Given the description of an element on the screen output the (x, y) to click on. 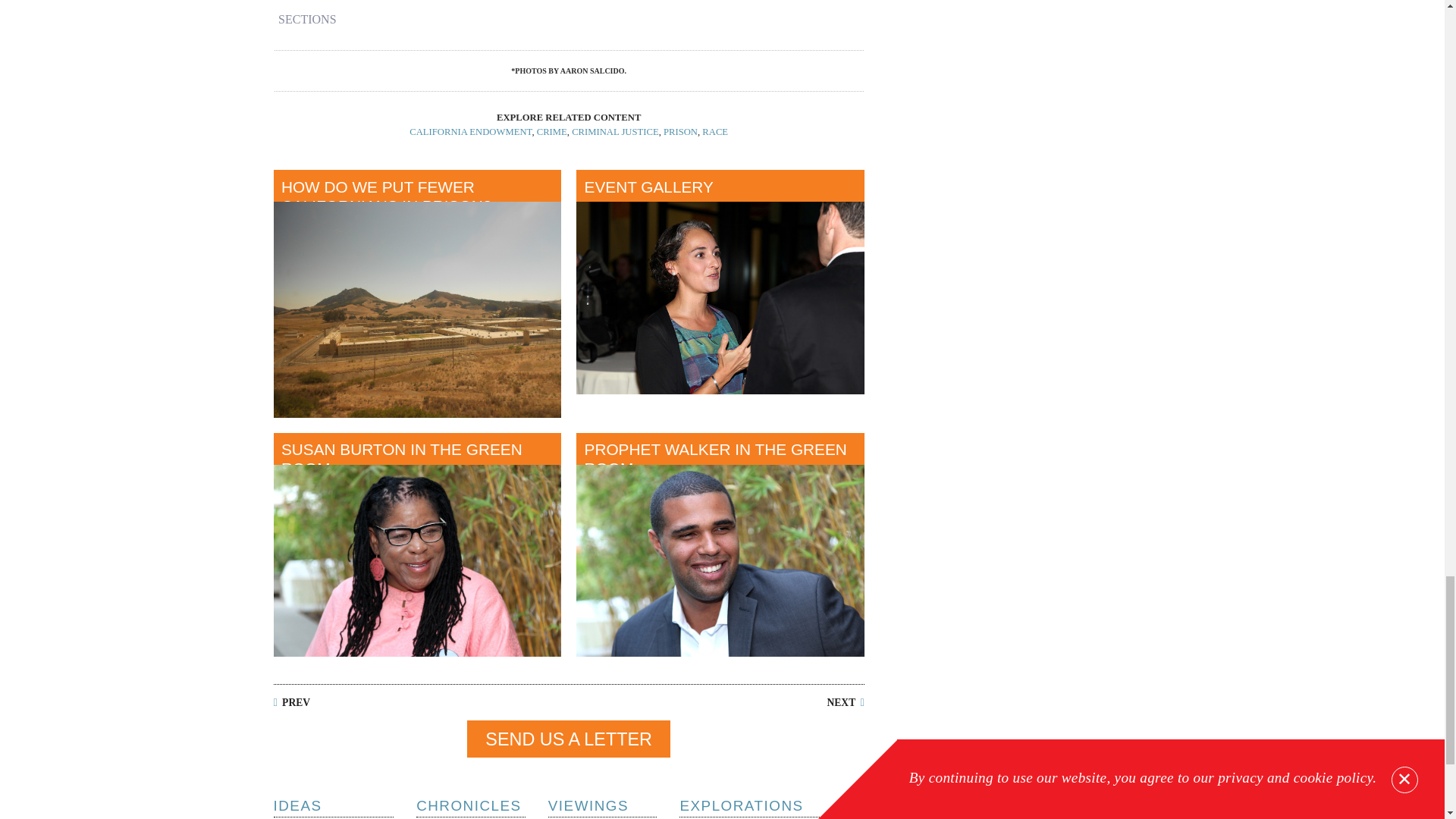
About (1101, 808)
